Given the description of an element on the screen output the (x, y) to click on. 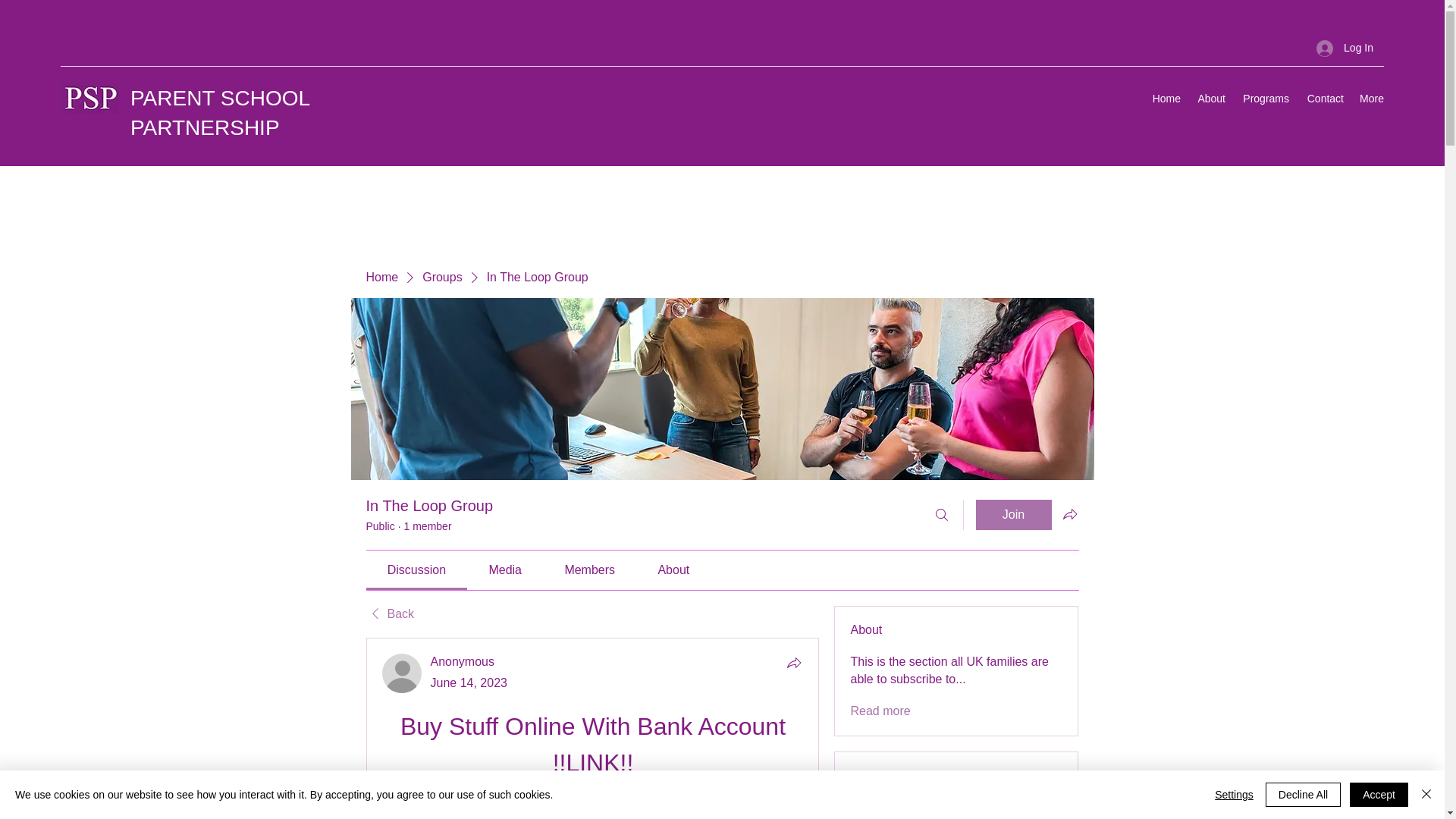
June 14, 2023 (468, 682)
psp806 (906, 811)
Home (381, 277)
About (1210, 97)
Home (1165, 97)
Contact (1324, 97)
Read more (880, 710)
Anonymous (462, 661)
PARENT SCHOOL PARTNERSHIP (219, 112)
Decline All (1302, 794)
